Given the description of an element on the screen output the (x, y) to click on. 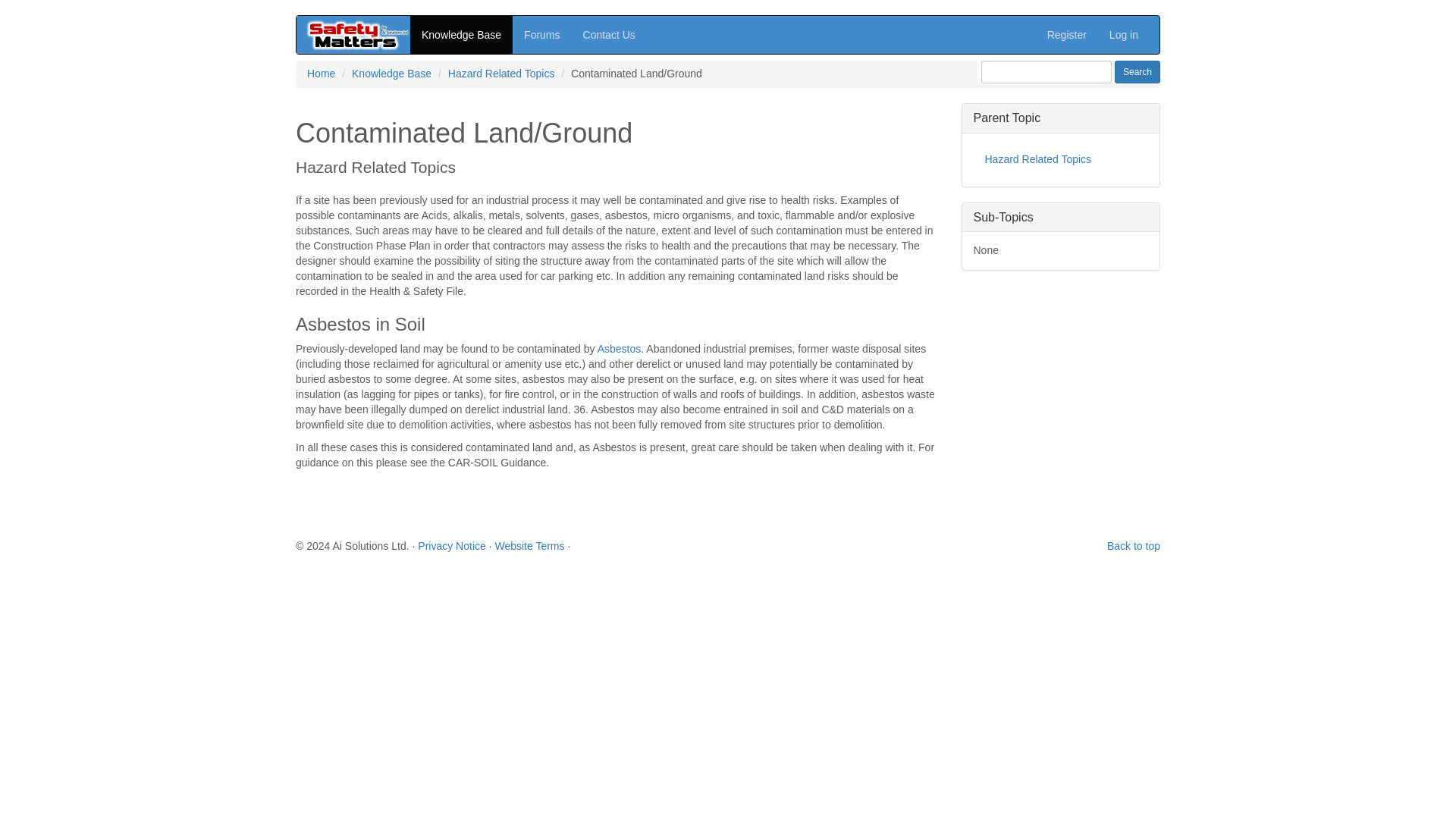
Asbestos (619, 348)
Search the Knowledge Base (1137, 71)
Register (1066, 34)
Hazard Related Topics (1061, 159)
Forums (541, 34)
Home (320, 73)
Search (1137, 71)
Knowledge Base (391, 73)
Contact Us (609, 34)
Hazard Related Topics (501, 73)
